Given the description of an element on the screen output the (x, y) to click on. 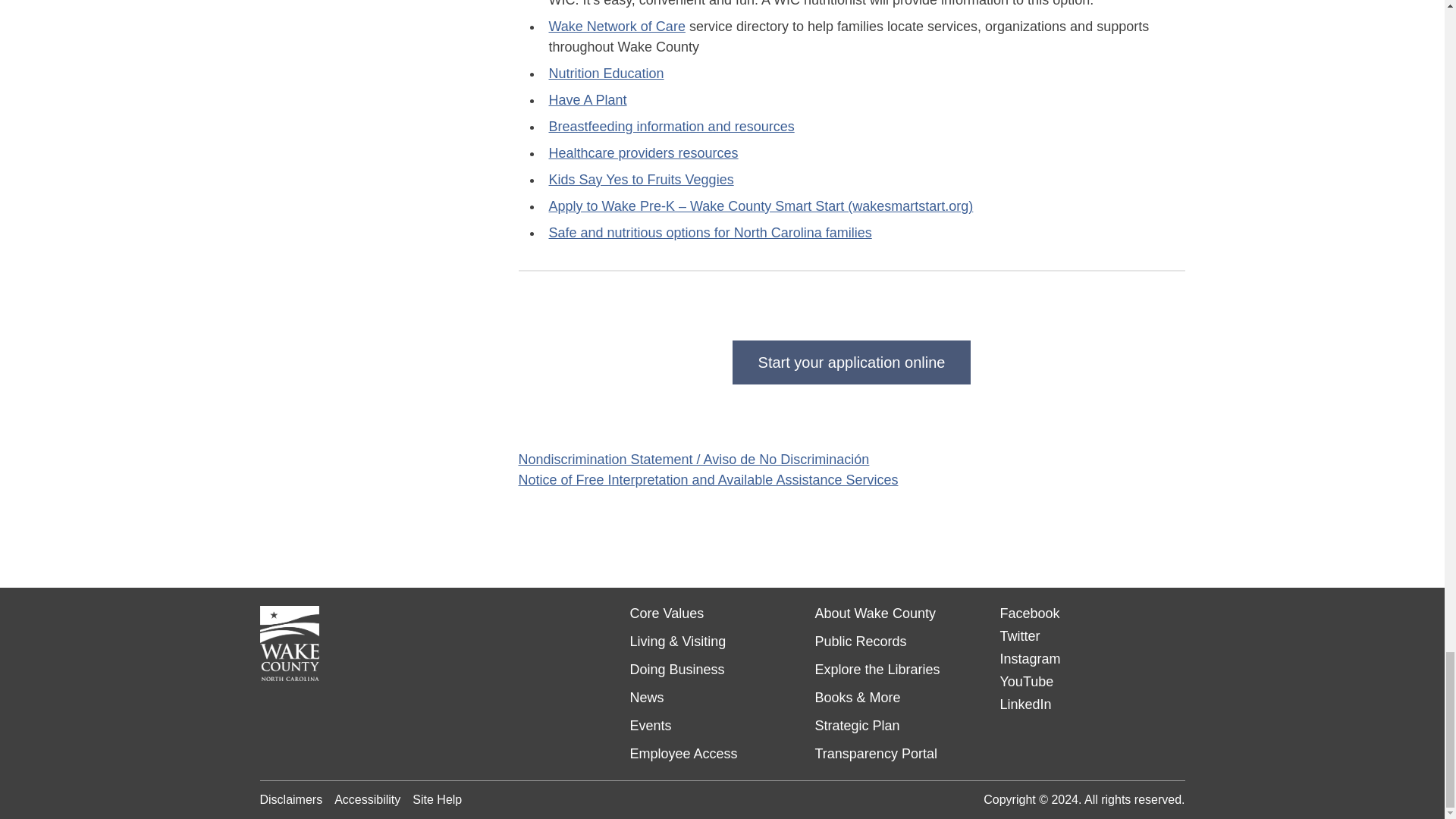
Follow us on Instagram (1028, 658)
Subscribe to us on YouTube (1025, 681)
Like us on Facebook (1028, 613)
Follow us on Twitter (1018, 635)
Find us on LinkedIn (1024, 703)
Employee intranet (682, 753)
